Given the description of an element on the screen output the (x, y) to click on. 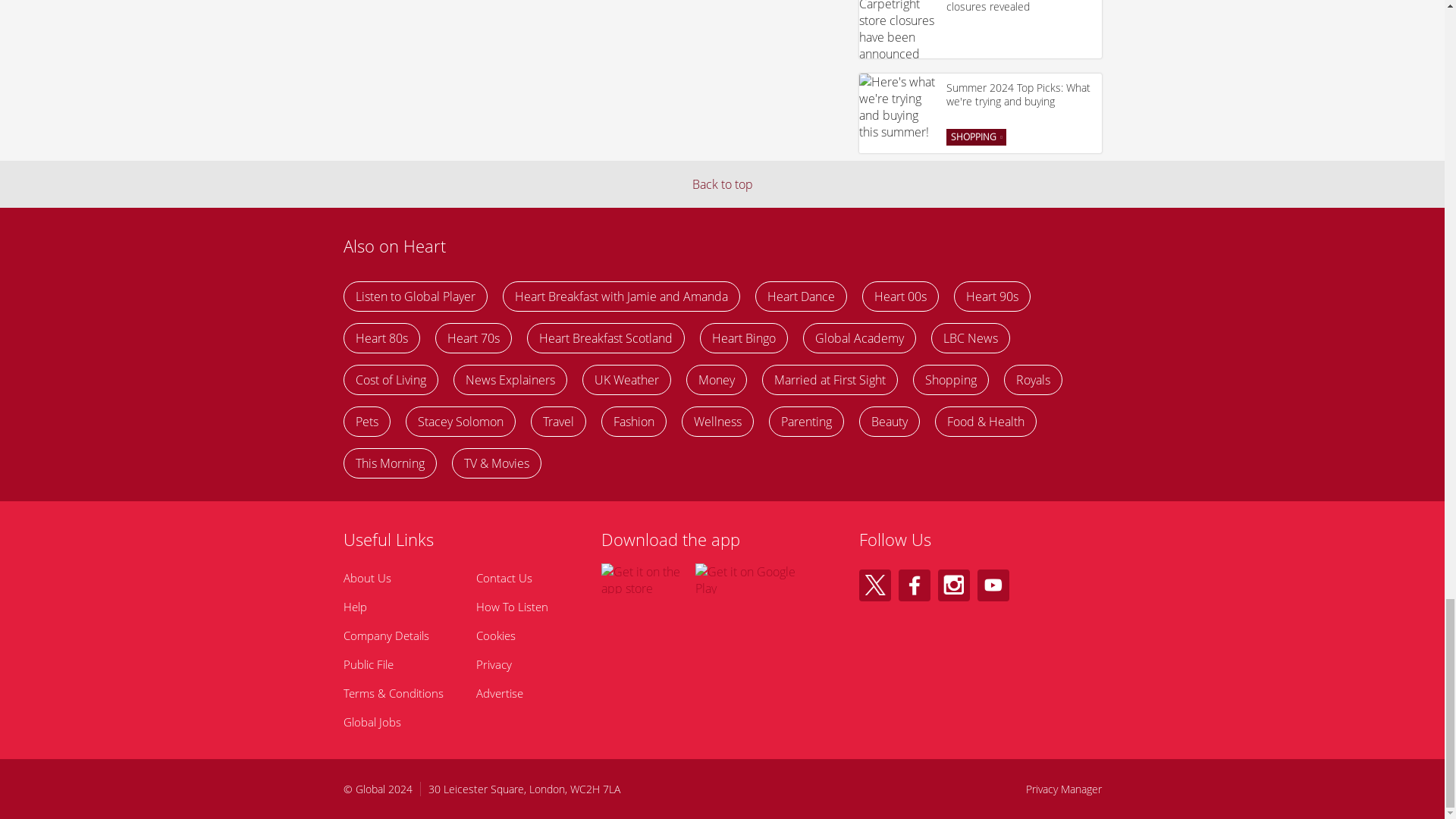
Follow Heart on Youtube (992, 585)
Back to top (721, 184)
Follow Heart on Facebook (914, 585)
Follow Heart on X (874, 585)
Follow Heart on Instagram (953, 585)
